Given the description of an element on the screen output the (x, y) to click on. 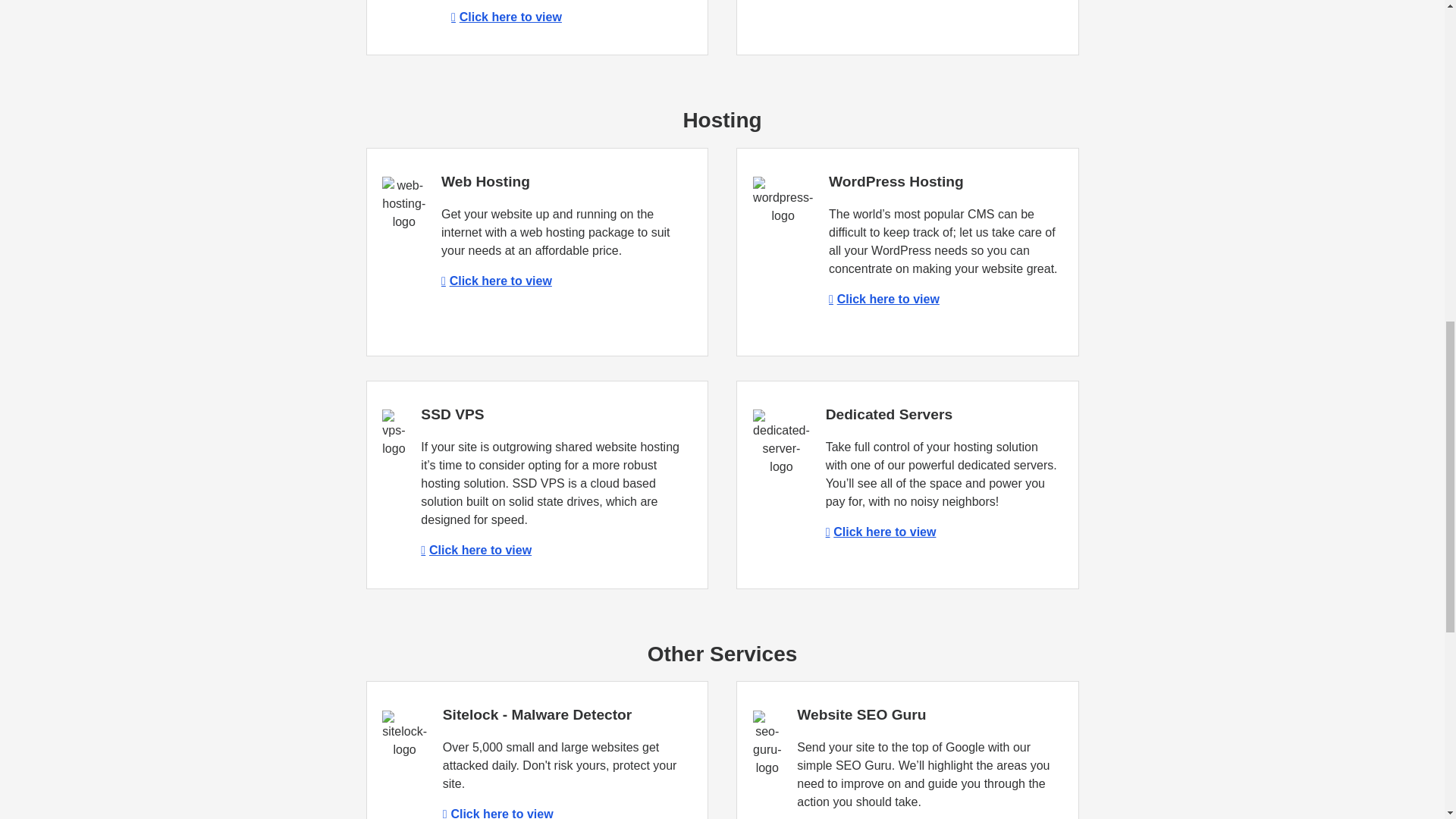
Click here to view (496, 280)
Click here to view (506, 16)
Click here to view (883, 298)
Click here to view (475, 549)
Click here to view (880, 531)
Click here to view (497, 813)
